Given the description of an element on the screen output the (x, y) to click on. 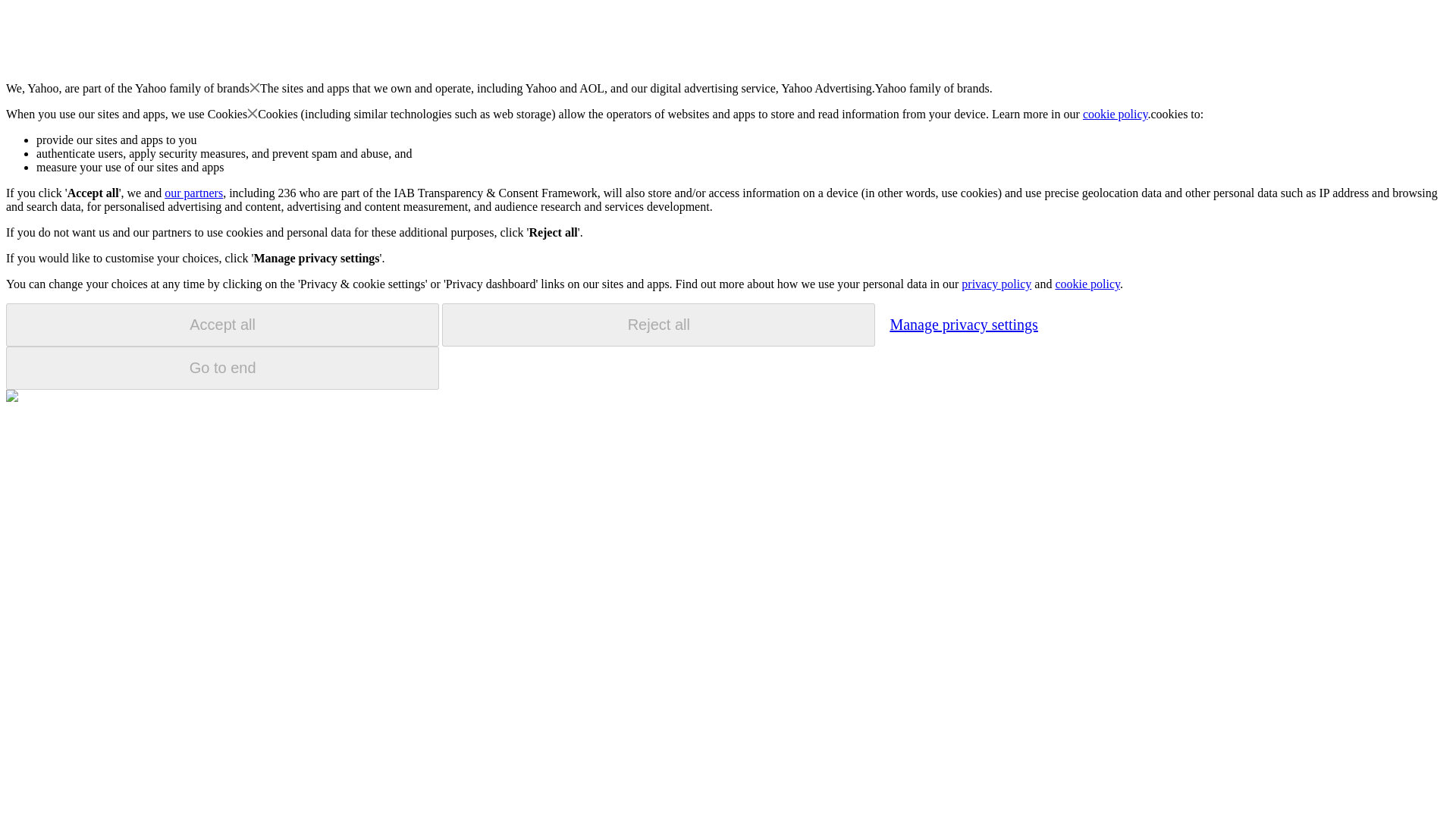
cookie policy (1086, 283)
Manage privacy settings (963, 323)
Accept all (222, 324)
Go to end (222, 367)
cookie policy (1115, 113)
our partners (193, 192)
Reject all (658, 324)
privacy policy (995, 283)
